Given the description of an element on the screen output the (x, y) to click on. 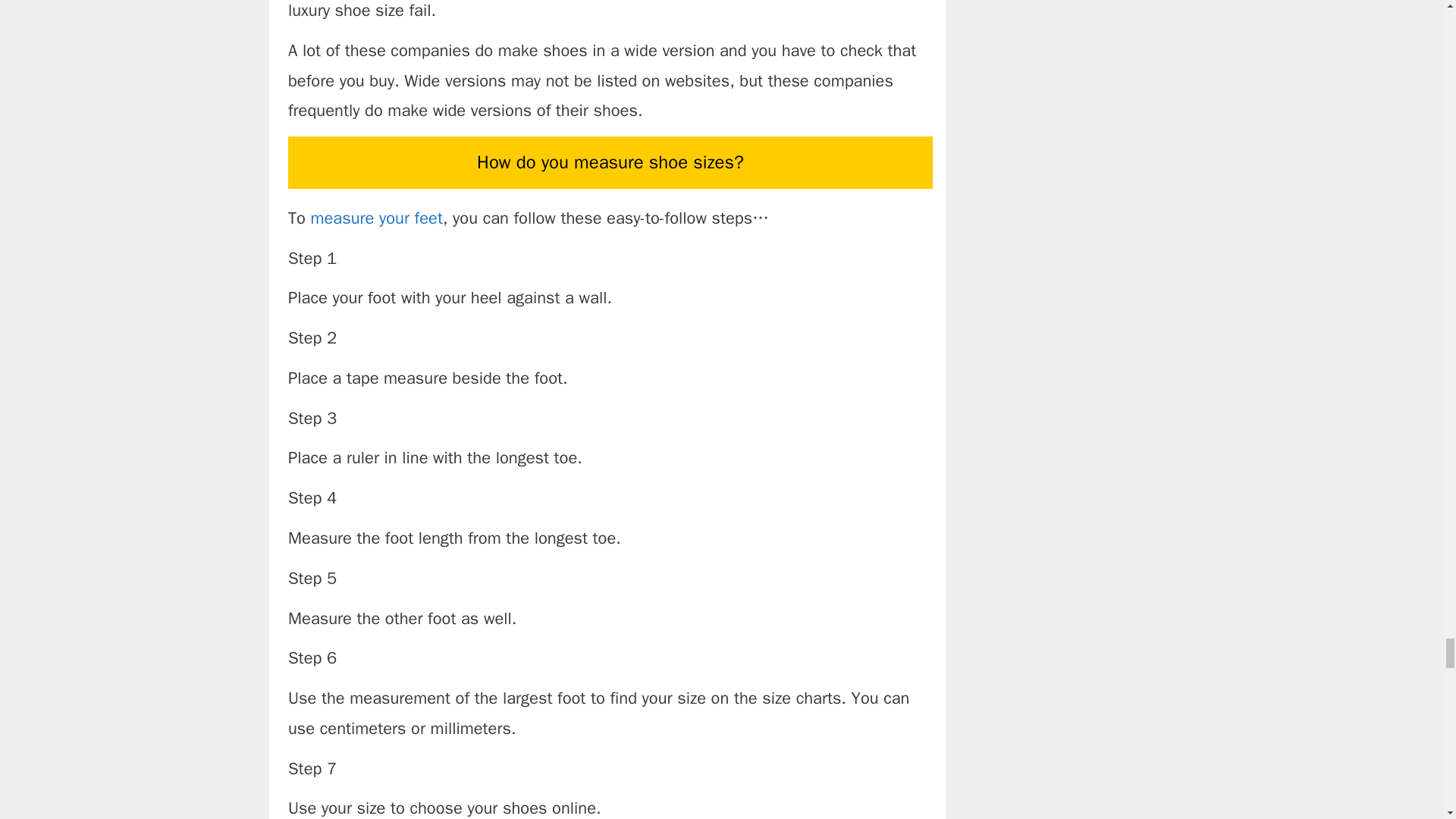
measure your feet (376, 218)
